Given the description of an element on the screen output the (x, y) to click on. 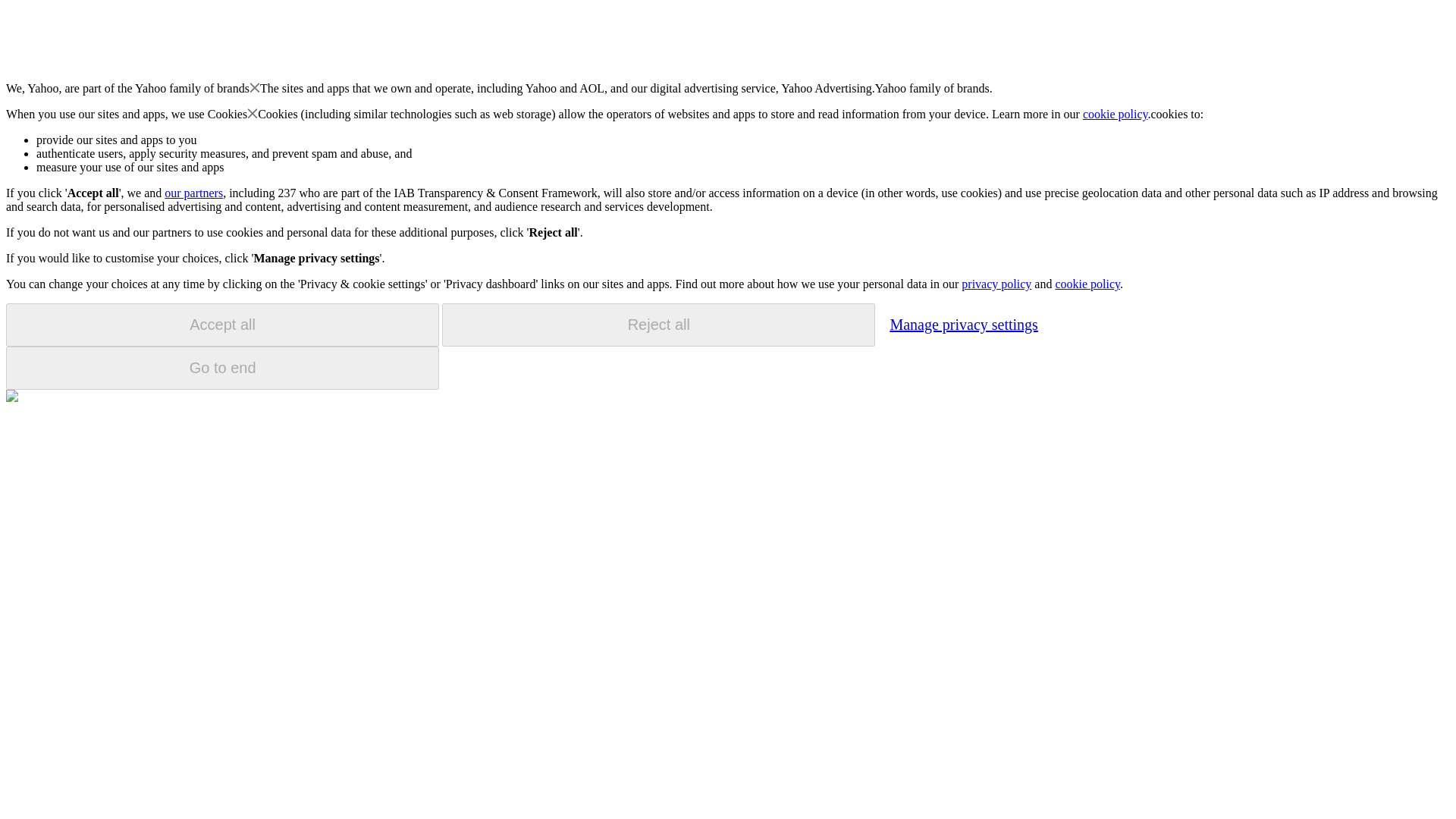
Reject all (658, 324)
cookie policy (1115, 113)
Go to end (222, 367)
privacy policy (995, 283)
our partners (193, 192)
Accept all (222, 324)
cookie policy (1086, 283)
Manage privacy settings (963, 323)
